Given the description of an element on the screen output the (x, y) to click on. 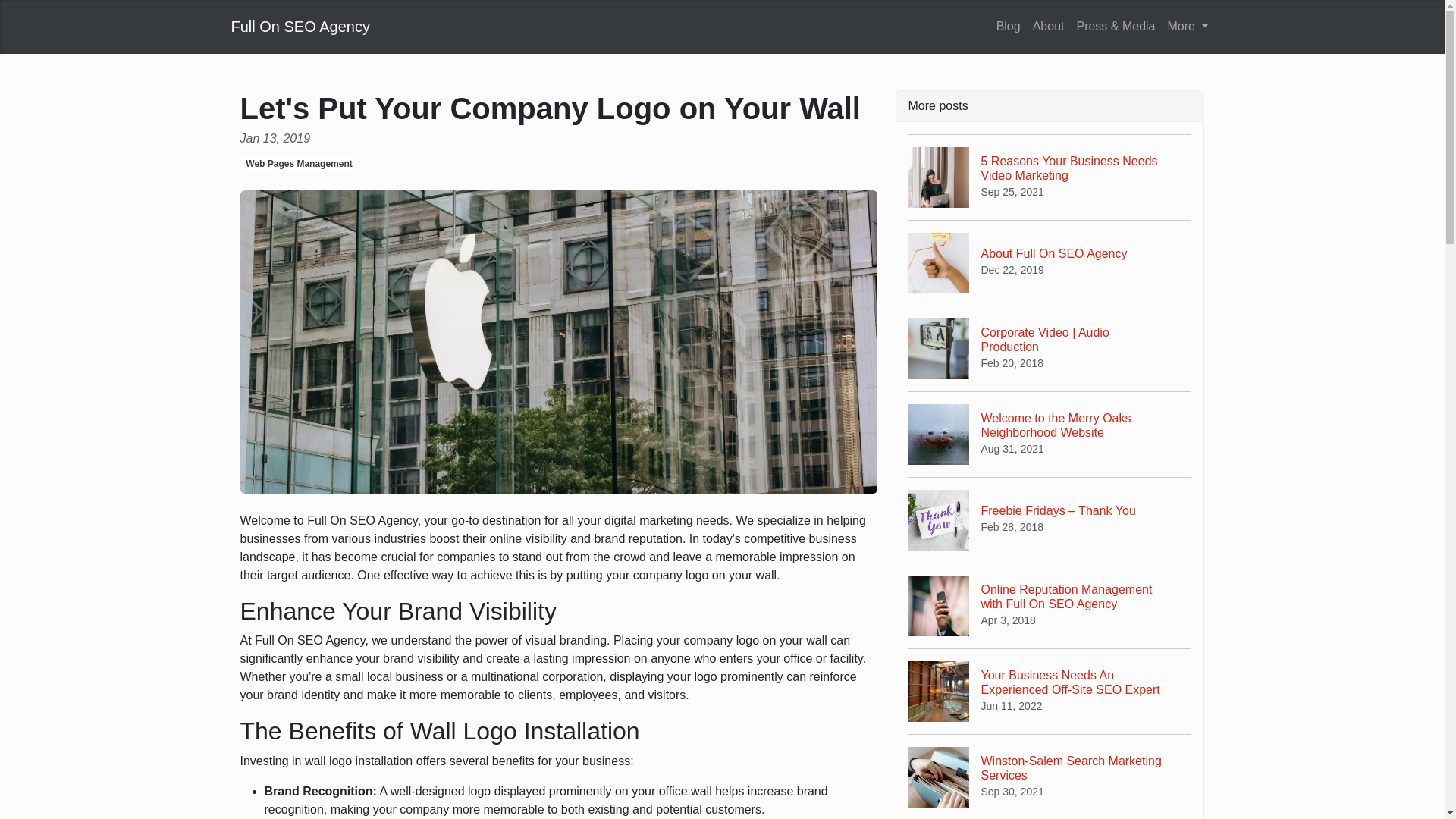
Web Pages Management (299, 163)
More (1050, 433)
About (1050, 262)
Full On SEO Agency (1050, 177)
